Given the description of an element on the screen output the (x, y) to click on. 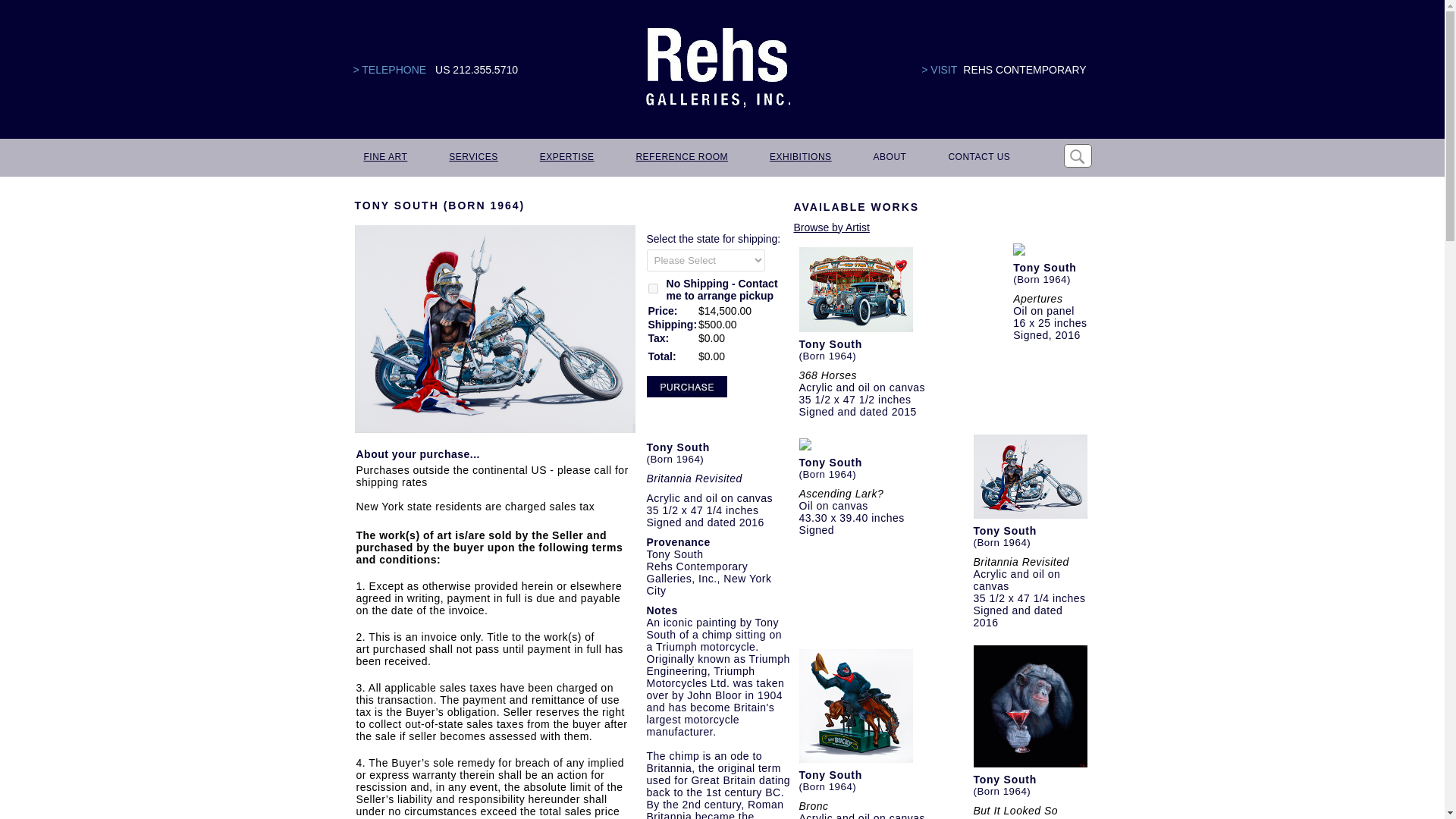
SERVICES (472, 157)
Logo (717, 67)
368 Horses (828, 375)
EXHIBITIONS (799, 157)
ABOUT (889, 157)
Apertures (1037, 298)
REHS CONTEMPORARY (1024, 69)
on (652, 288)
CONTACT US (978, 157)
REFERENCE ROOM (680, 157)
EXPERTISE (566, 157)
FINE ART (384, 157)
Browse by Artist (831, 227)
